Given the description of an element on the screen output the (x, y) to click on. 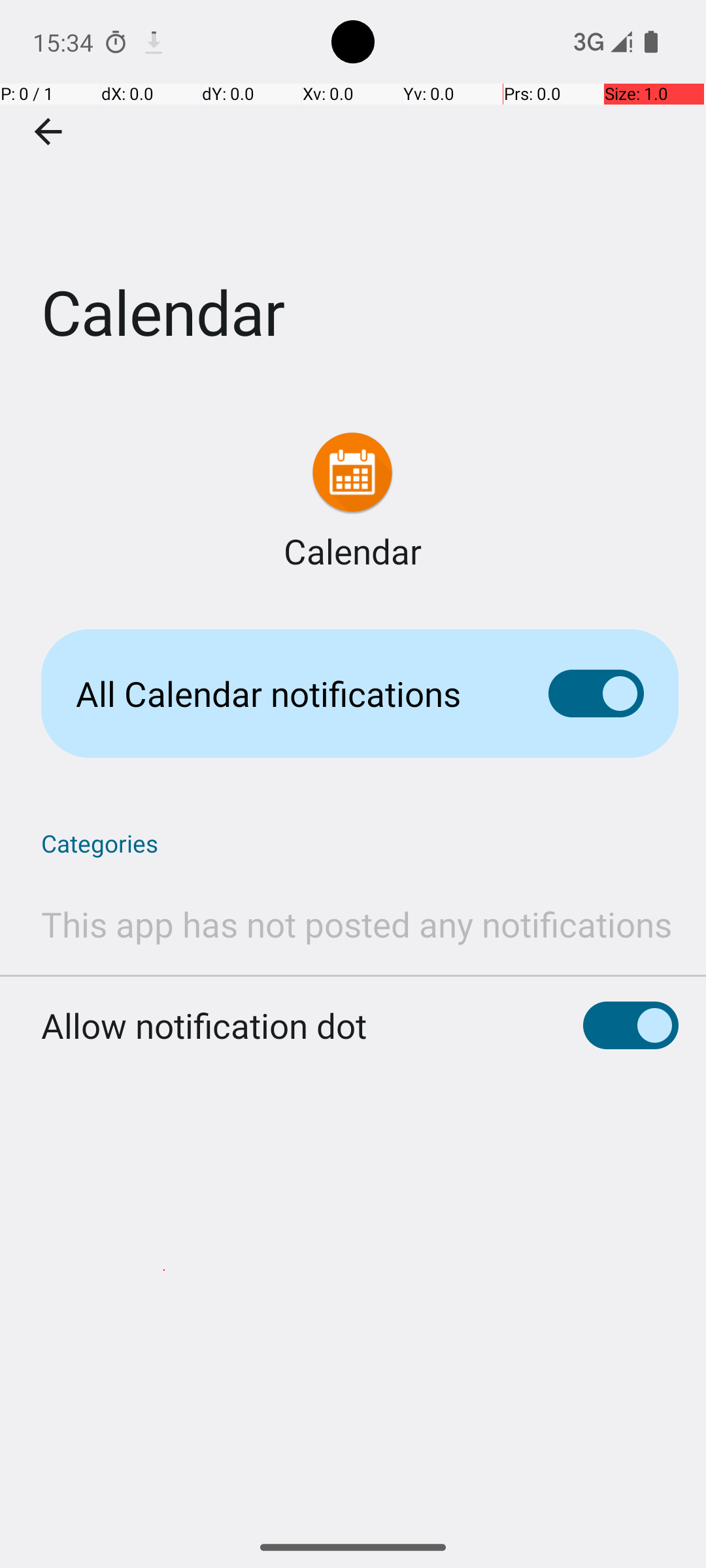
This app has not posted any notifications Element type: android.widget.TextView (356, 923)
